Given the description of an element on the screen output the (x, y) to click on. 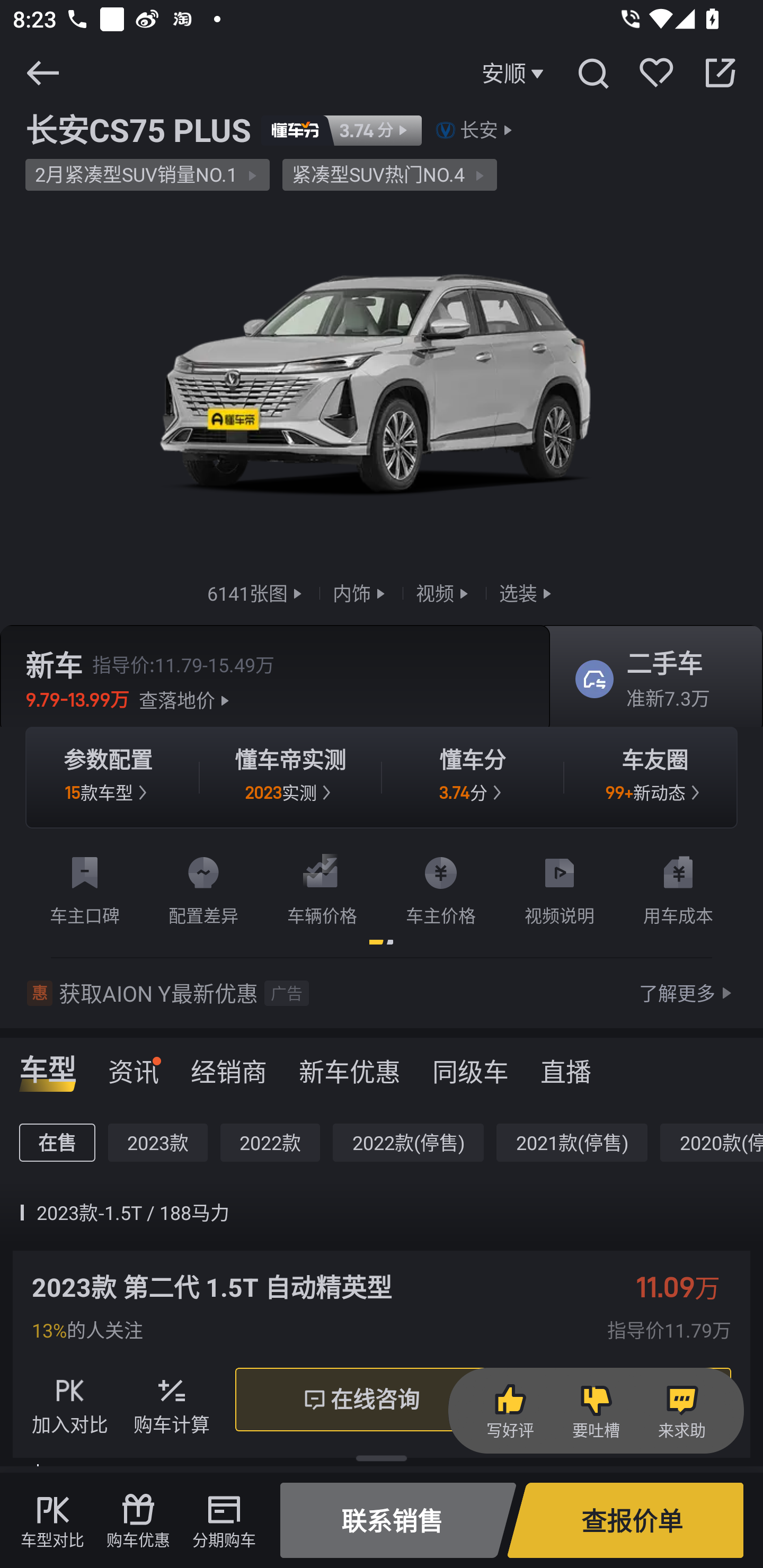
 (42, 72)
 (592, 72)
 (720, 72)
安顺 (514, 73)
长安 (479, 130)
2月紧凑型SUV销量NO.1  (147, 174)
紧凑型SUV热门NO.4  (389, 174)
6141张图 (256, 592)
内饰 (360, 592)
视频 (444, 592)
选装 (527, 592)
二手车 准新7.3万 (650, 679)
指导价:11.79-15.49万 (183, 664)
查落地价 (186, 699)
参数配置 15 款车型  (107, 777)
懂车帝实测 2023 实测  (290, 777)
懂车分 3.74 分  (472, 777)
车友圈 99+ 新动态  (654, 777)
车主口碑 (84, 887)
配置差异 (203, 887)
车辆价格 (321, 887)
车主价格 (440, 887)
视频说明 (559, 887)
用车成本 (677, 887)
惠 获取AION Y最新优惠 广告 了解更多  (381, 992)
车型 (47, 1065)
资讯 (133, 1065)
经销商 (228, 1065)
新车优惠 (349, 1065)
同级车 (470, 1065)
直播 (565, 1065)
在售 (57, 1142)
2023款 (157, 1142)
2022款 (269, 1142)
2022款(停售) (407, 1142)
2021款(停售) (571, 1142)
11.09 万 (687, 1287)
加入对比 (70, 1399)
 购车计算 (171, 1399)
在线咨询 (360, 1399)
写好评 (510, 1410)
要吐槽 (595, 1410)
来求助 (681, 1410)
车型对比 (52, 1520)
购车优惠 (138, 1520)
分期购车 (224, 1520)
联系销售 (398, 1519)
查报价单 (625, 1519)
